Given the description of an element on the screen output the (x, y) to click on. 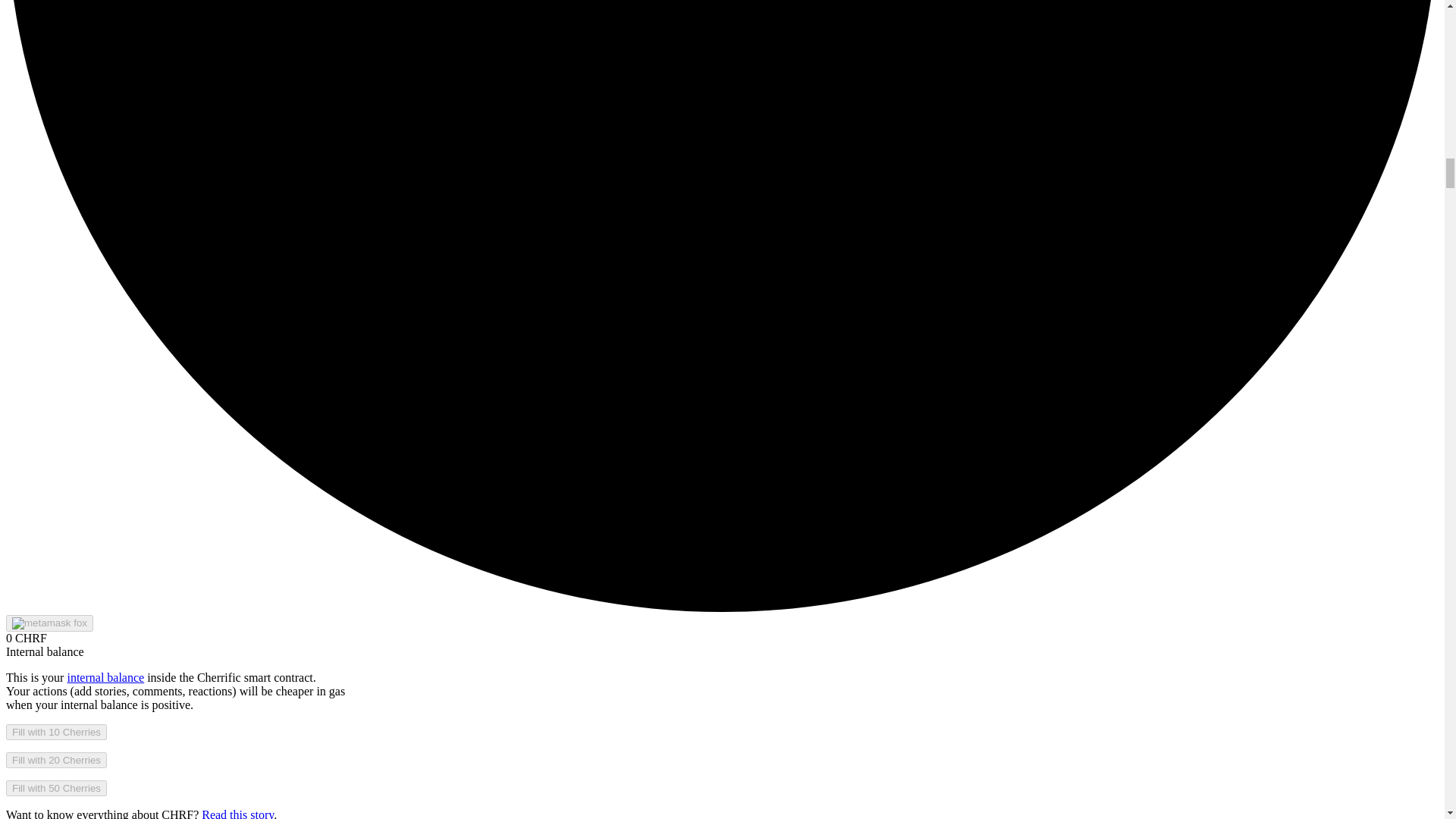
Add CHRF to MetaMask (49, 623)
Read this story (237, 813)
Fill with 20 Cherries (55, 760)
Allowance is too low (55, 788)
Allowance is too low (55, 731)
internal balance (105, 676)
Allowance is too low (55, 760)
Fill with 10 Cherries (55, 731)
Fill with 50 Cherries (55, 788)
